Given the description of an element on the screen output the (x, y) to click on. 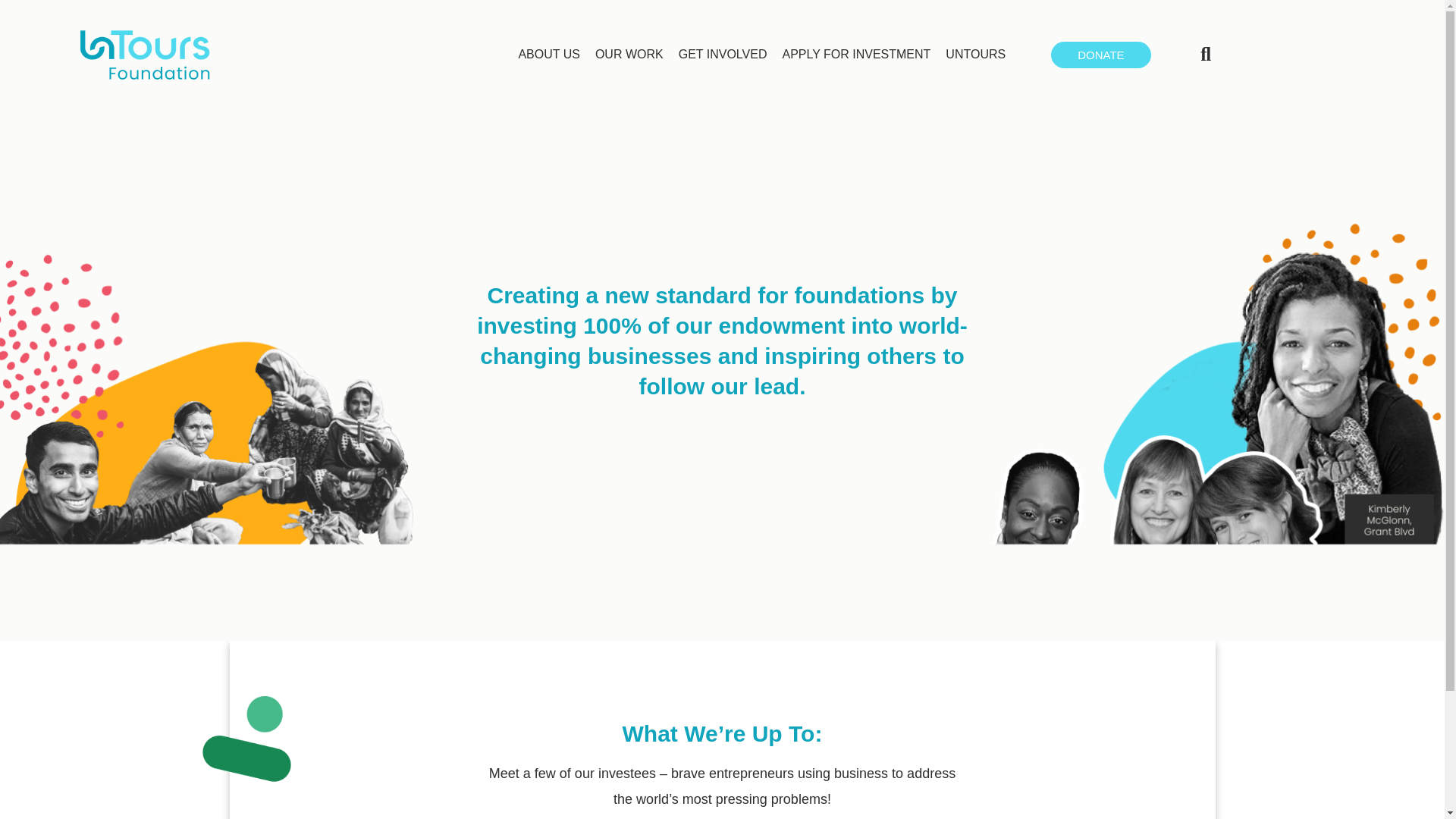
ABOUT US (549, 54)
OUR WORK (629, 54)
GET INVOLVED (722, 54)
APPLY FOR INVESTMENT (855, 54)
DONATE (1100, 54)
UNTOURS (975, 54)
